Given the description of an element on the screen output the (x, y) to click on. 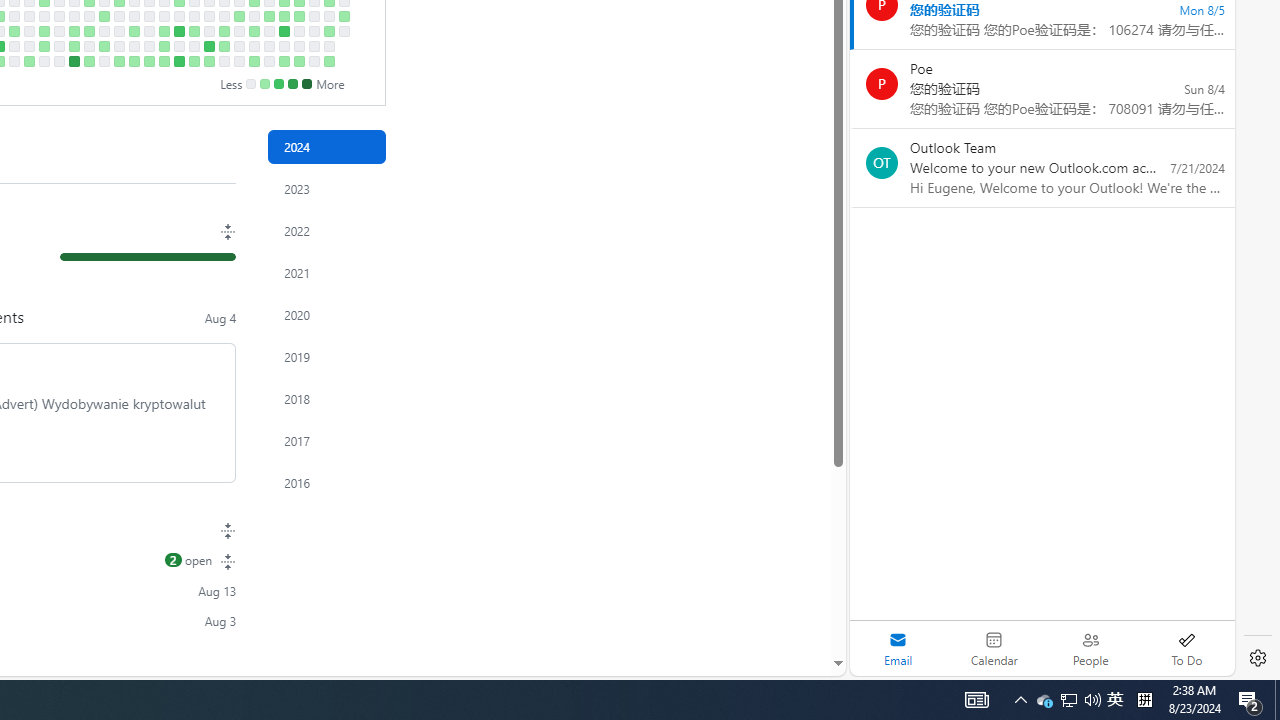
Selected mail module (898, 648)
Contribution activity in 2019 (326, 356)
Contribution activity in 2024 (326, 147)
No contributions on June 7th. (178, 46)
2017 (326, 440)
5 contributions on April 4th. (43, 30)
Contribution activity in 2016 (326, 482)
1 contribution on June 1st. (163, 61)
No contributions on March 23rd. (13, 61)
No contributions on June 20th. (209, 30)
Contribution activity in 2023 (326, 188)
No contributions on April 26th. (88, 46)
No contributions on April 13th. (58, 61)
